Given the description of an element on the screen output the (x, y) to click on. 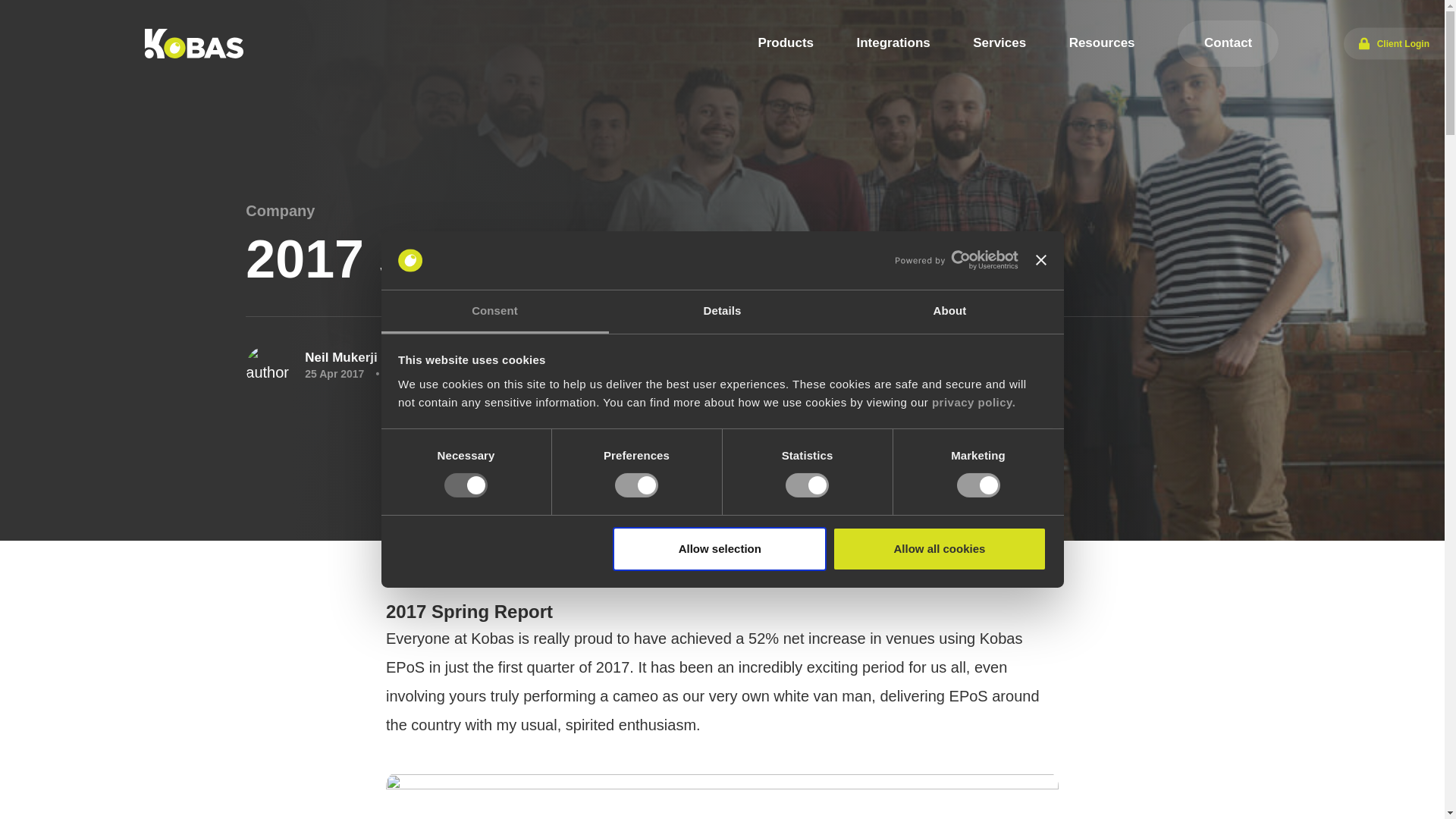
privacy policy. (973, 401)
Allow selection (719, 548)
About (948, 311)
Details (721, 311)
Consent (494, 311)
